Given the description of an element on the screen output the (x, y) to click on. 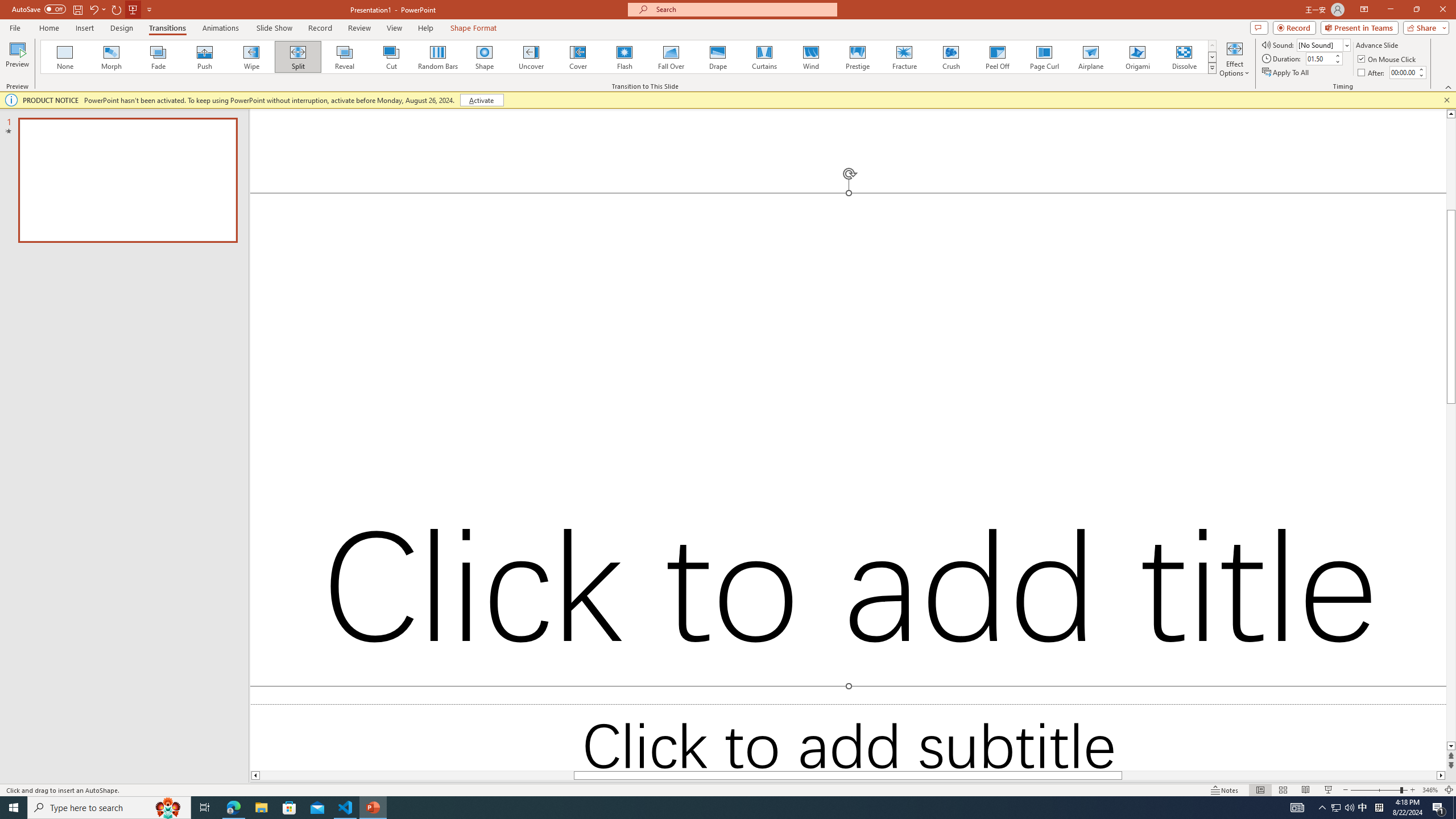
Fall Over (670, 56)
Reveal (344, 56)
Morph (111, 56)
Transition Effects (1212, 67)
Dissolve (1183, 56)
